Given the description of an element on the screen output the (x, y) to click on. 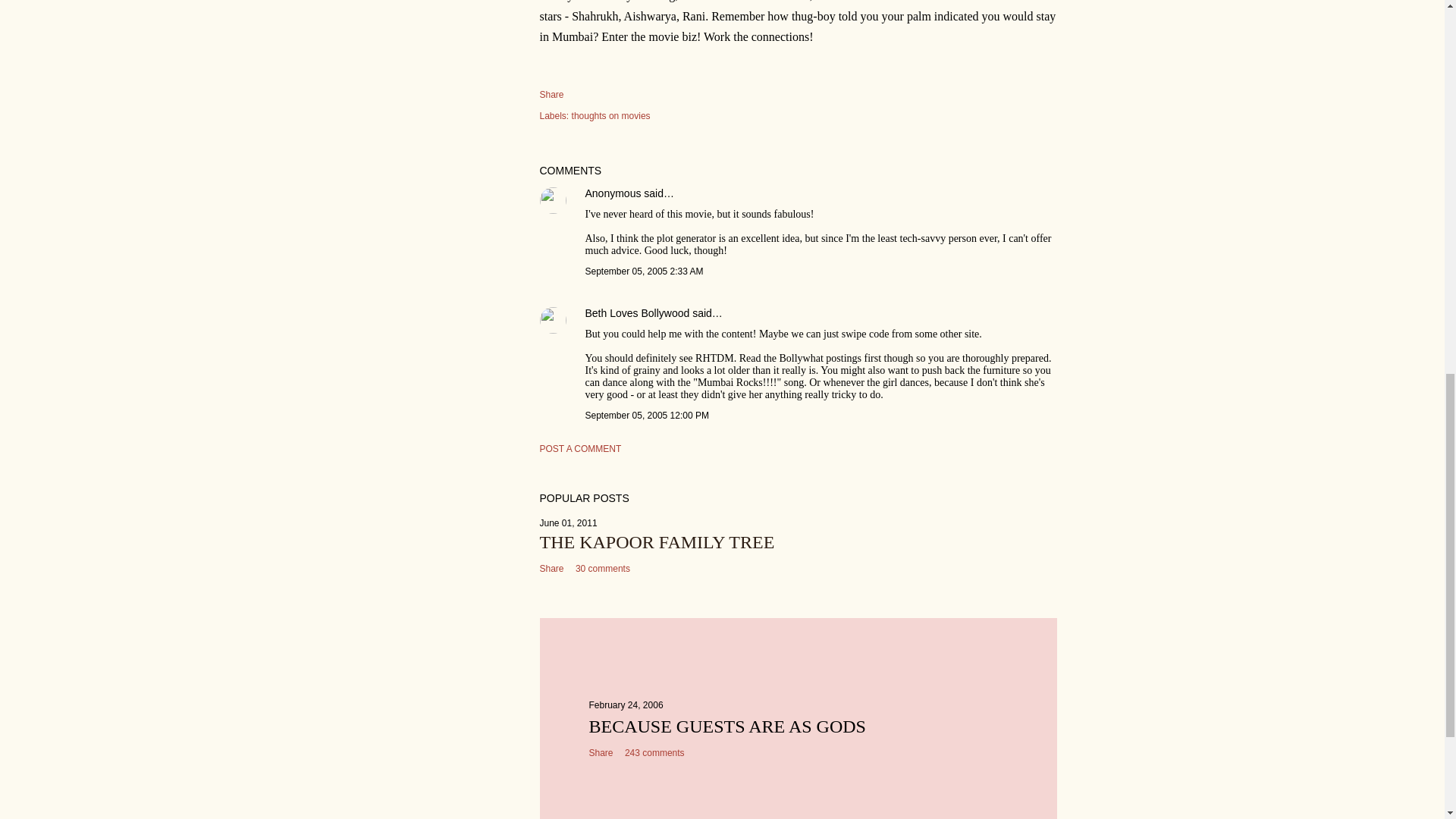
POST A COMMENT (580, 448)
February 24, 2006 (625, 705)
September 05, 2005 12:00 PM (647, 415)
thoughts on movies (611, 115)
September 05, 2005 2:33 AM (644, 271)
Share (552, 94)
Share (600, 752)
June 01, 2011 (568, 522)
Beth Loves Bollywood (637, 313)
THE KAPOOR FAMILY TREE (657, 542)
